Given the description of an element on the screen output the (x, y) to click on. 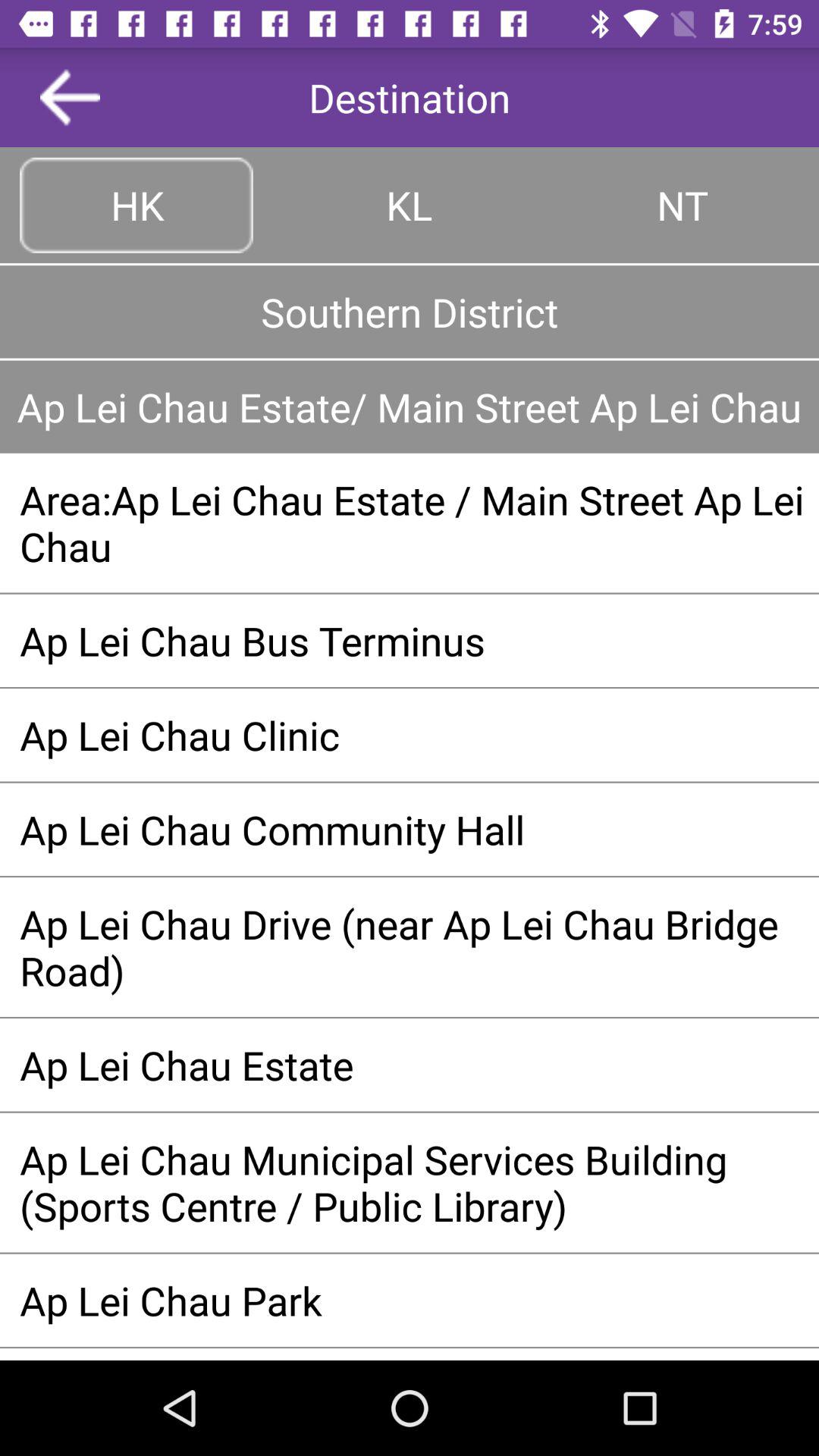
tap the item next to nt item (409, 205)
